Given the description of an element on the screen output the (x, y) to click on. 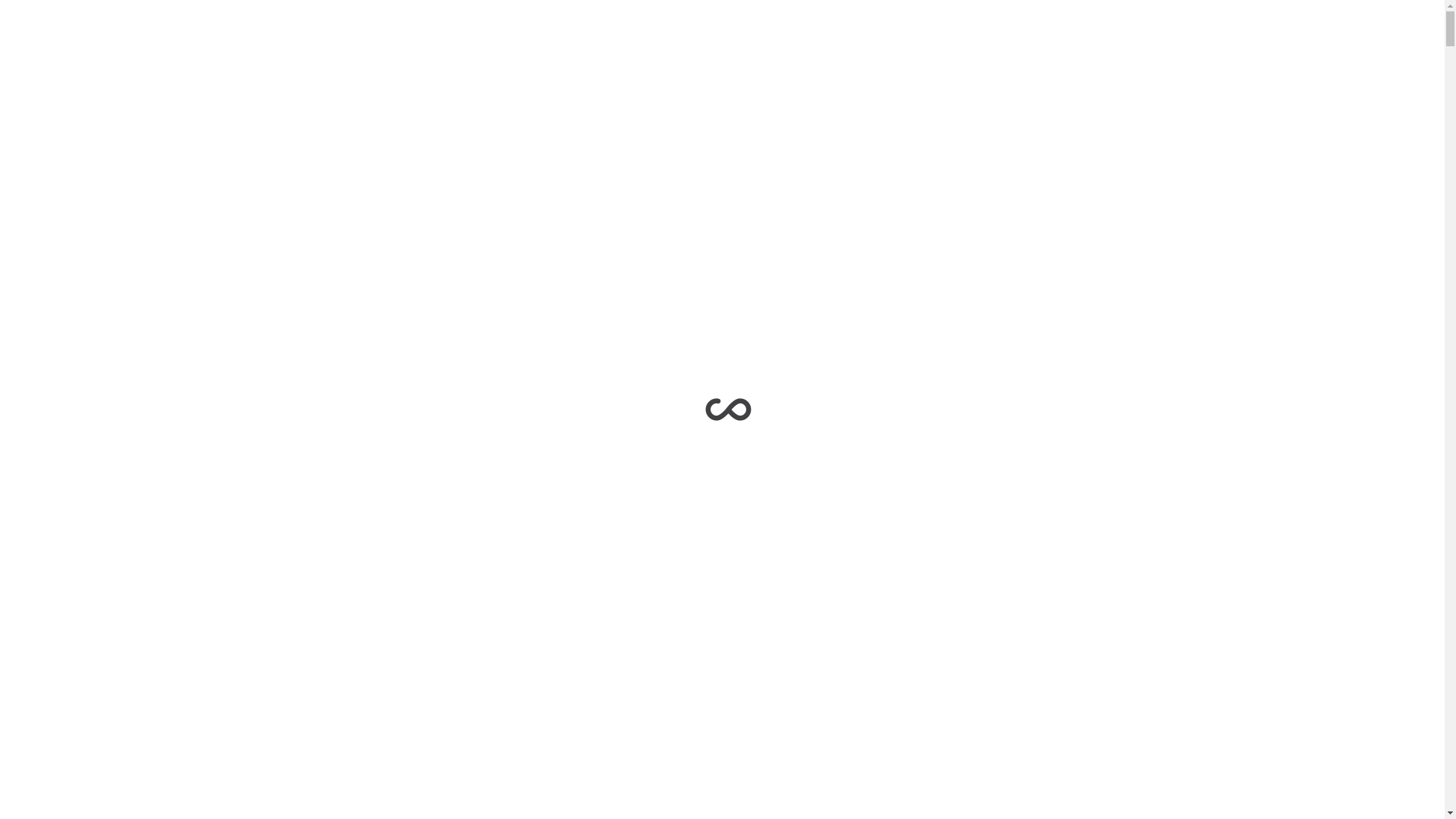
MENU Element type: text (1428, 29)
DIVA. Element type: text (25, 36)
ABOUT Element type: text (165, 35)
MENU Element type: text (1361, 52)
HALL OF FAME Element type: text (332, 35)
HOME Element type: text (113, 35)
PAST WINNERS Element type: text (239, 35)
CONTACT Element type: text (411, 35)
